Given the description of an element on the screen output the (x, y) to click on. 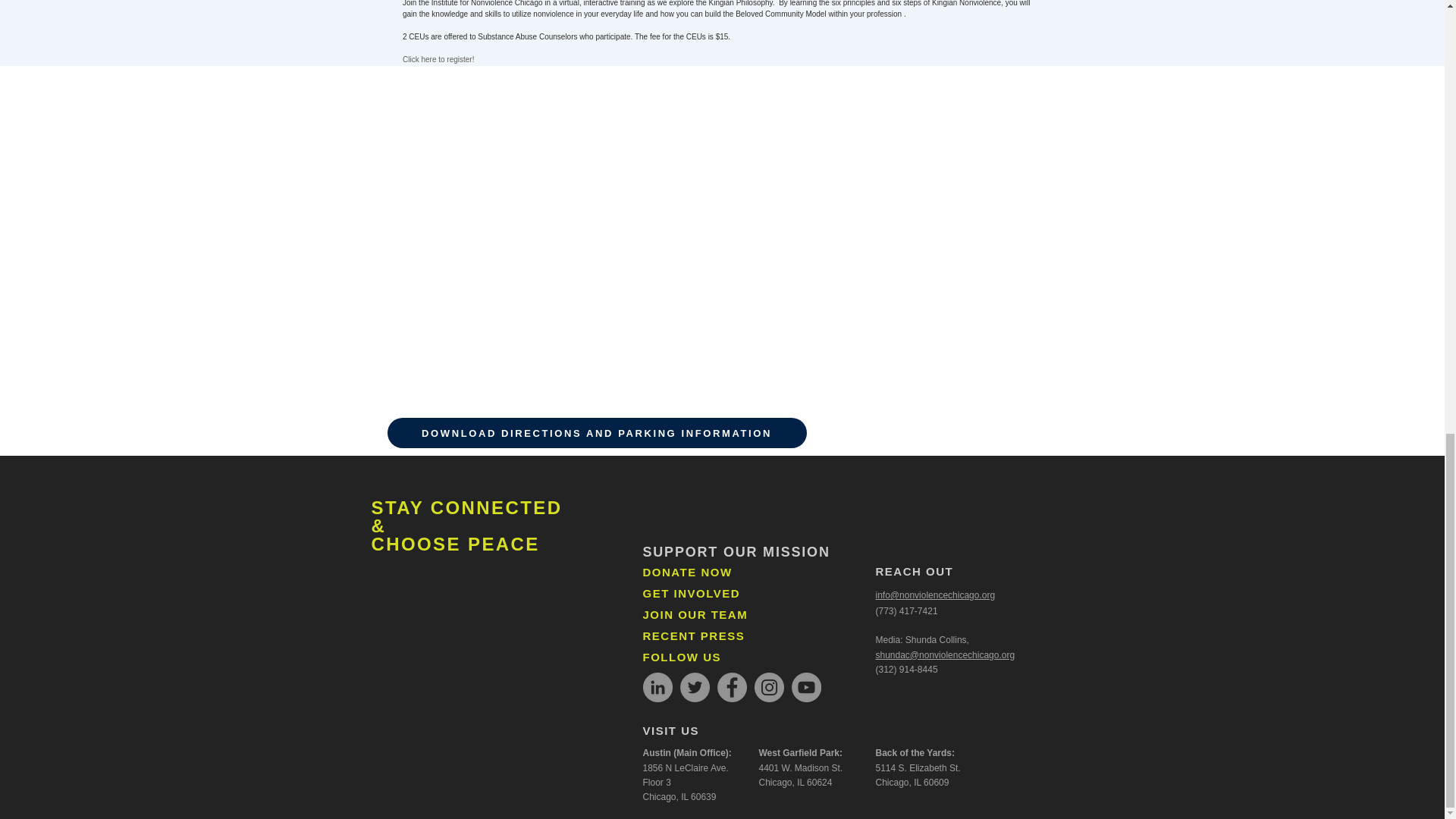
Click here to register! (438, 59)
JOIN OUR TEAM (695, 614)
GET INVOLVED (692, 593)
DONATE NOW (687, 571)
DOWNLOAD DIRECTIONS AND PARKING INFORMATION (596, 432)
RECENT PRESS (694, 635)
